Given the description of an element on the screen output the (x, y) to click on. 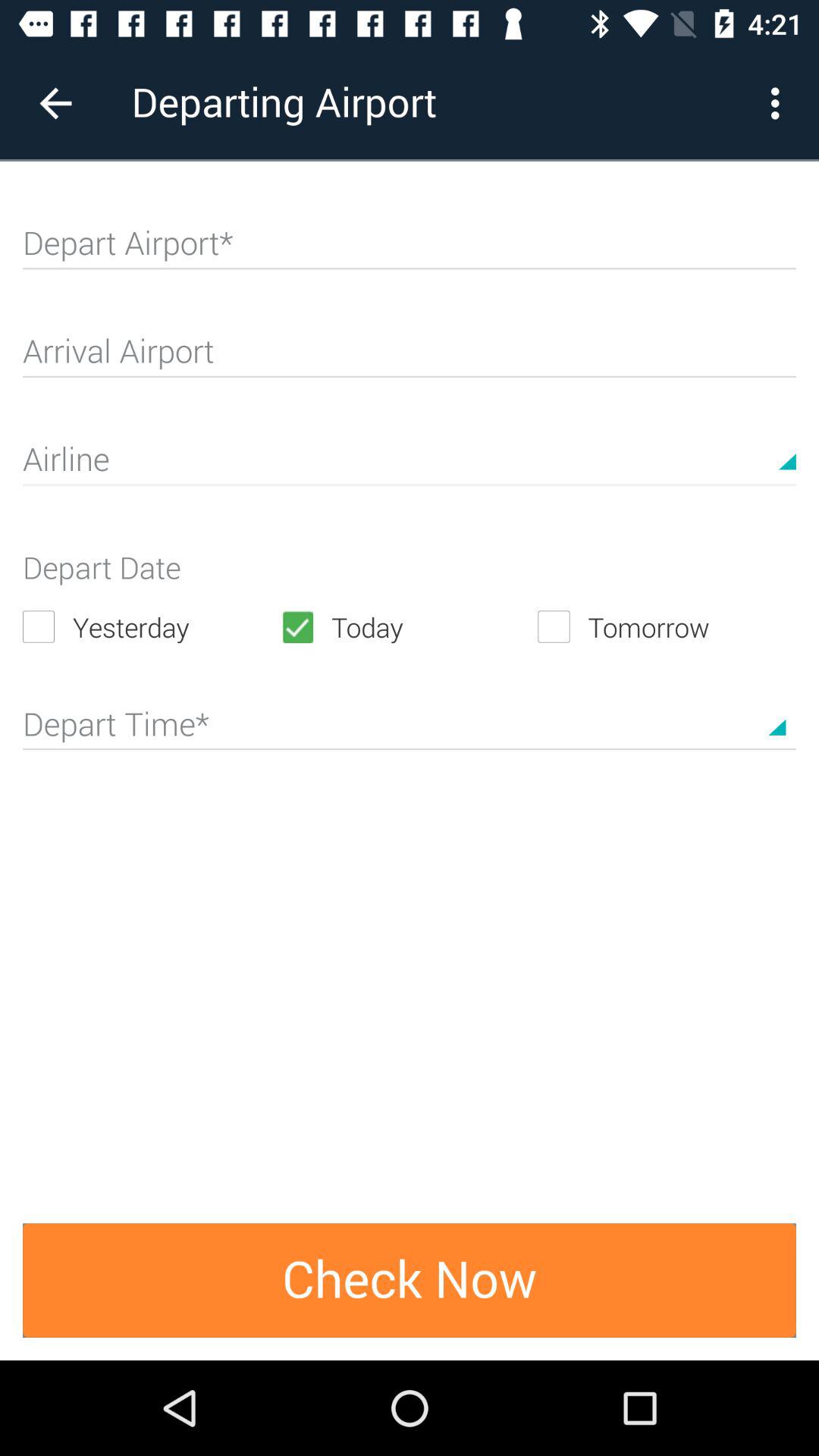
departing airport name (409, 249)
